Given the description of an element on the screen output the (x, y) to click on. 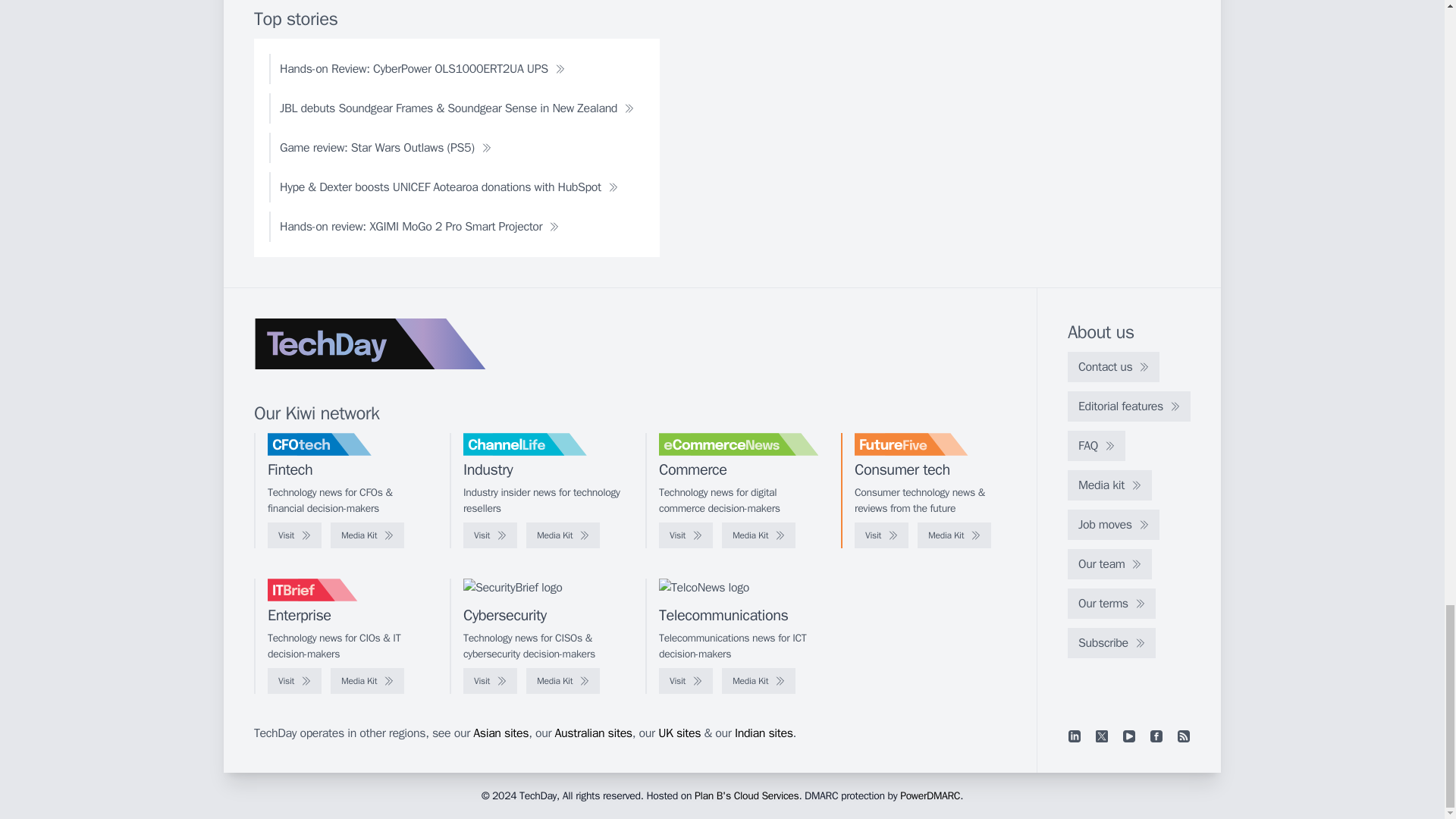
Visit (489, 534)
Media Kit (367, 534)
Hands-on Review: CyberPower OLS1000ERT2UA UPS (422, 69)
Visit (294, 534)
Media Kit (562, 534)
Media Kit (954, 534)
Visit (686, 534)
Media Kit (758, 534)
Hands-on review: XGIMI MoGo 2 Pro Smart Projector (419, 226)
Visit (881, 534)
